Given the description of an element on the screen output the (x, y) to click on. 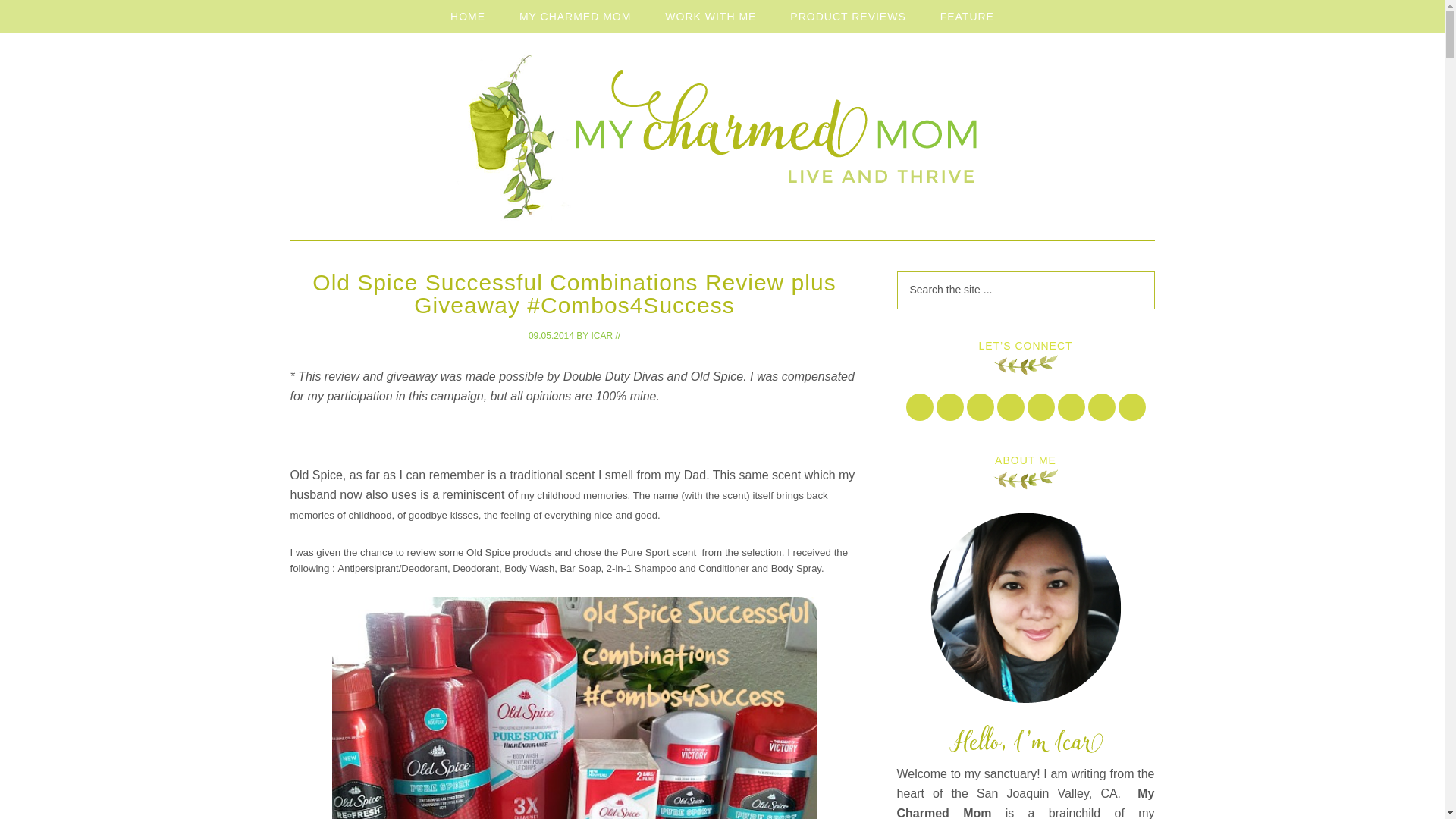
HOME (467, 16)
WORK WITH ME (710, 16)
FEATURE (966, 16)
MY CHARMED MOM (574, 16)
PRODUCT REVIEWS (847, 16)
ICAR (601, 335)
